Given the description of an element on the screen output the (x, y) to click on. 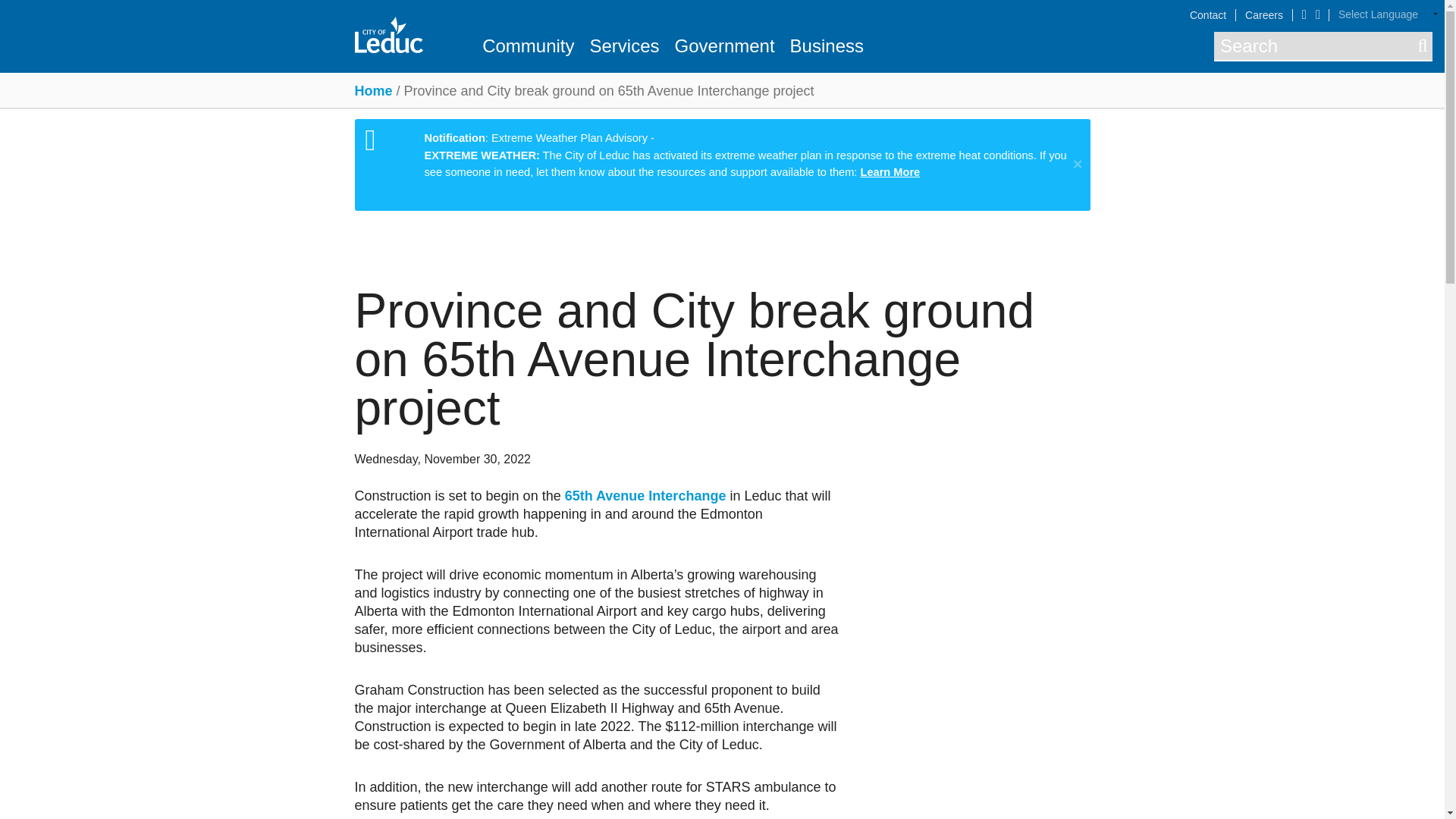
Community (527, 45)
City of Leduc Home (389, 33)
Business (826, 45)
City of Leduc Home (389, 34)
Government (724, 45)
Services (624, 45)
